Given the description of an element on the screen output the (x, y) to click on. 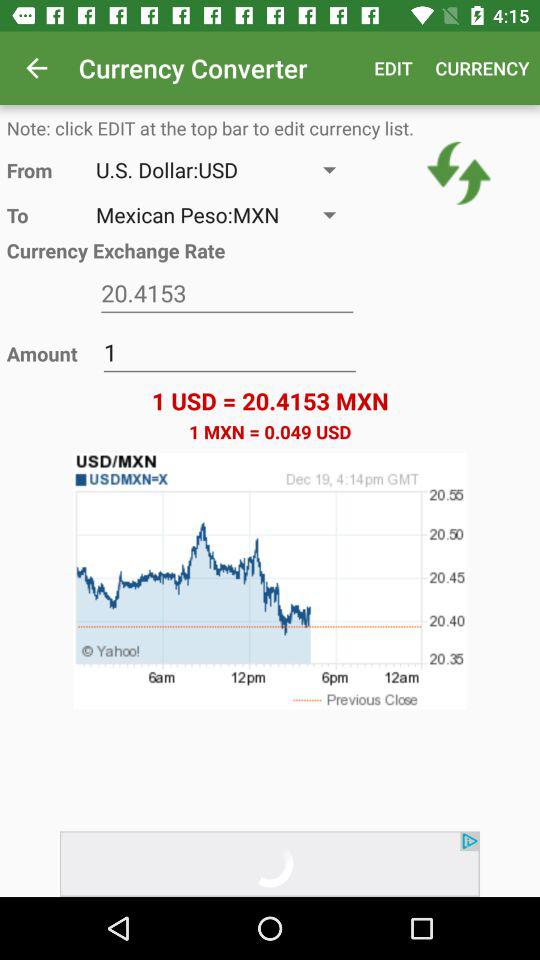
reverse currency exchange (458, 173)
